Given the description of an element on the screen output the (x, y) to click on. 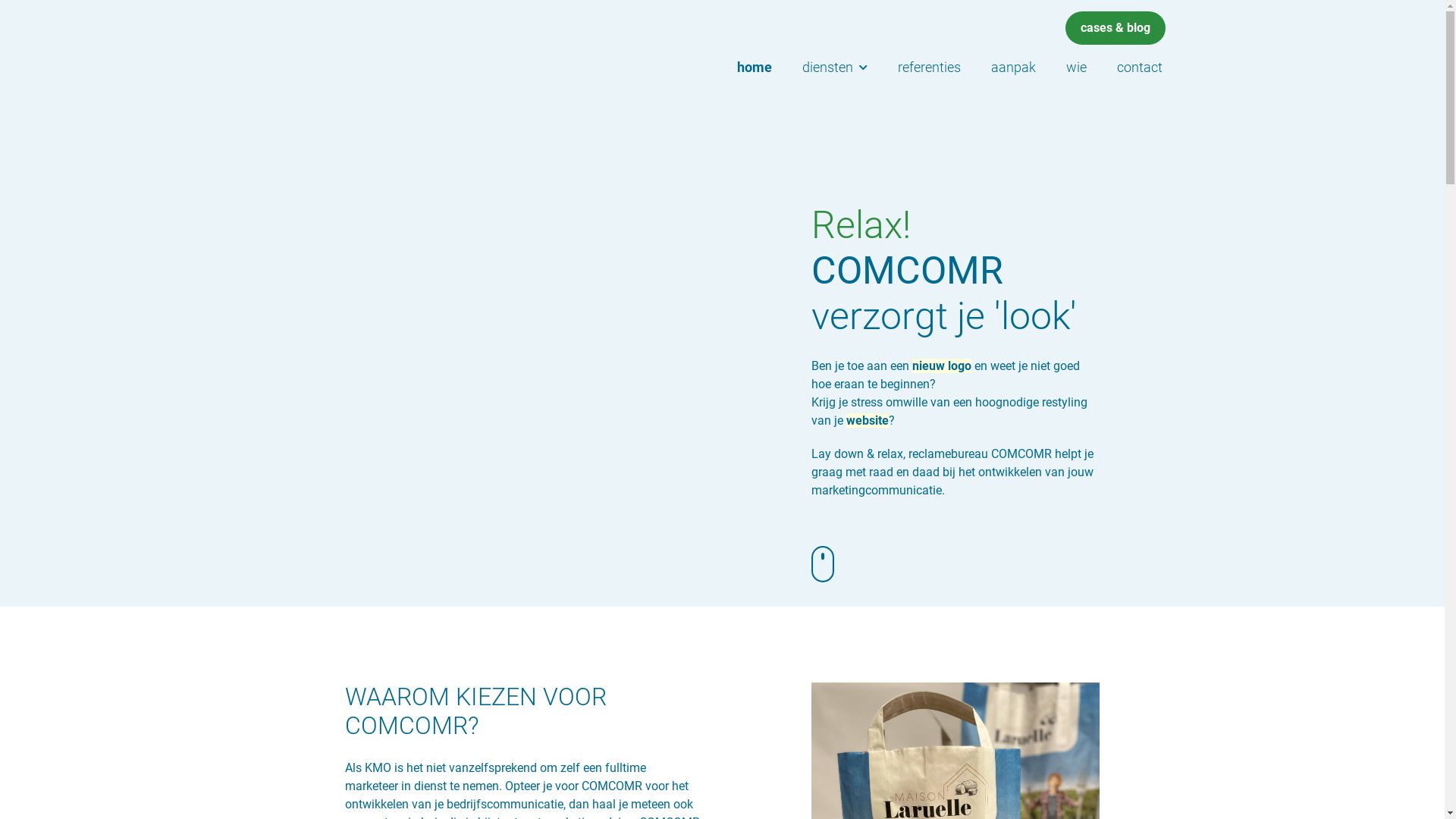
nieuw logo Element type: text (941, 365)
referenties Element type: text (928, 66)
contact Element type: text (1138, 66)
home Element type: text (754, 66)
wie Element type: text (1076, 66)
aanpak Element type: text (1012, 66)
cases & blog Element type: text (1114, 27)
diensten Element type: text (834, 66)
website Element type: text (867, 420)
